Given the description of an element on the screen output the (x, y) to click on. 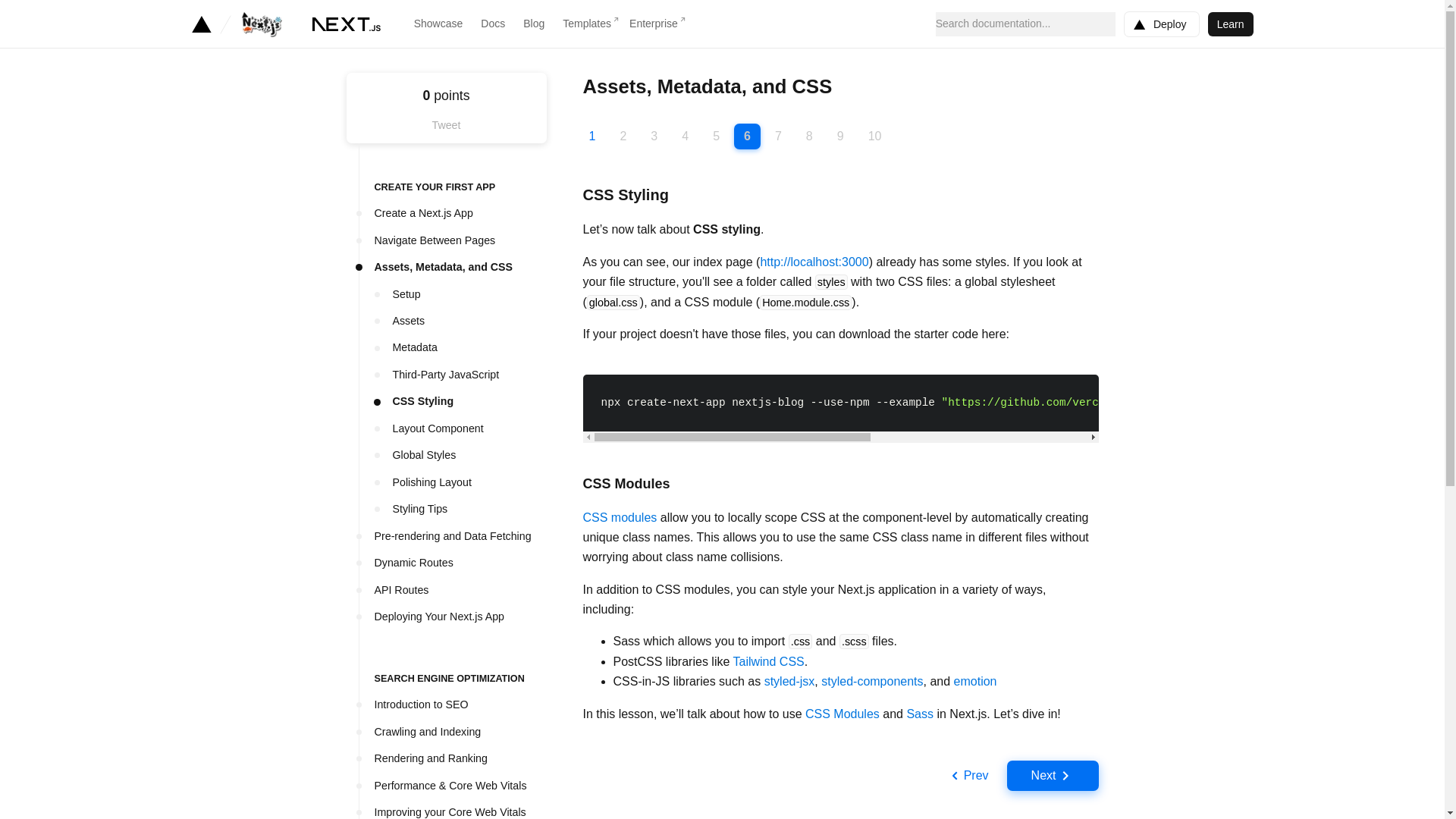
Learn (1230, 24)
Go to the homepage (274, 23)
Go to the homepage (346, 24)
Enterprise (653, 23)
Deploy (1161, 24)
Templates (586, 23)
Go to Vercel homepage (199, 23)
Search documentation... (1025, 24)
Docs (492, 23)
Documentation (492, 23)
Showcase (438, 23)
Blog (533, 23)
